Given the description of an element on the screen output the (x, y) to click on. 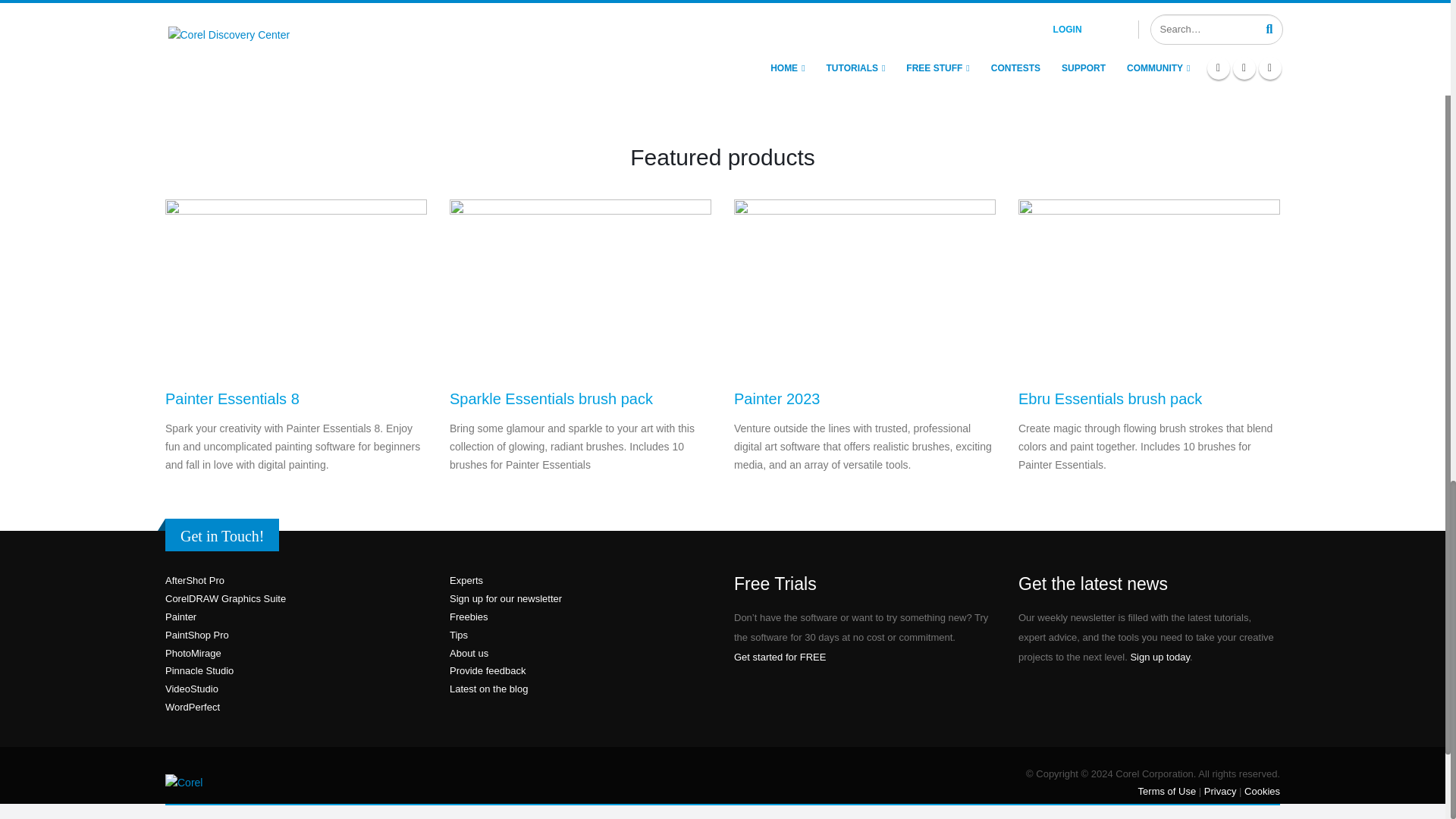
Corel Discovery Center (433, 782)
